Given the description of an element on the screen output the (x, y) to click on. 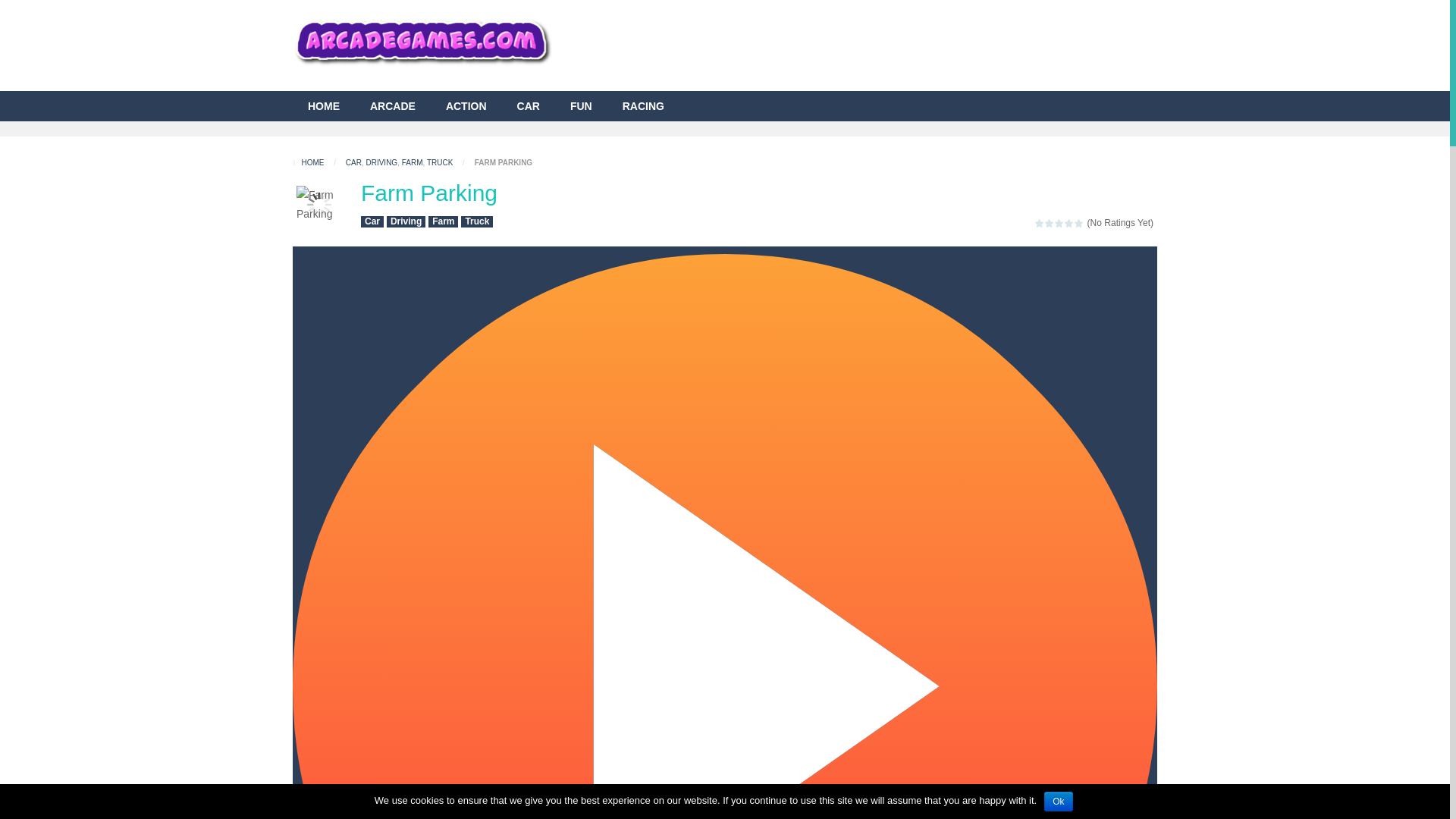
FUN (580, 105)
Farm (443, 221)
2 Stars (1049, 223)
HOME (323, 105)
TRUCK (439, 162)
Truck (477, 221)
HOME (309, 162)
FARM (412, 162)
CAR (528, 105)
3 Stars (1059, 223)
Car (372, 221)
ARCADE (392, 105)
5 Stars (1079, 223)
RACING (643, 105)
ACTION (466, 105)
